Given the description of an element on the screen output the (x, y) to click on. 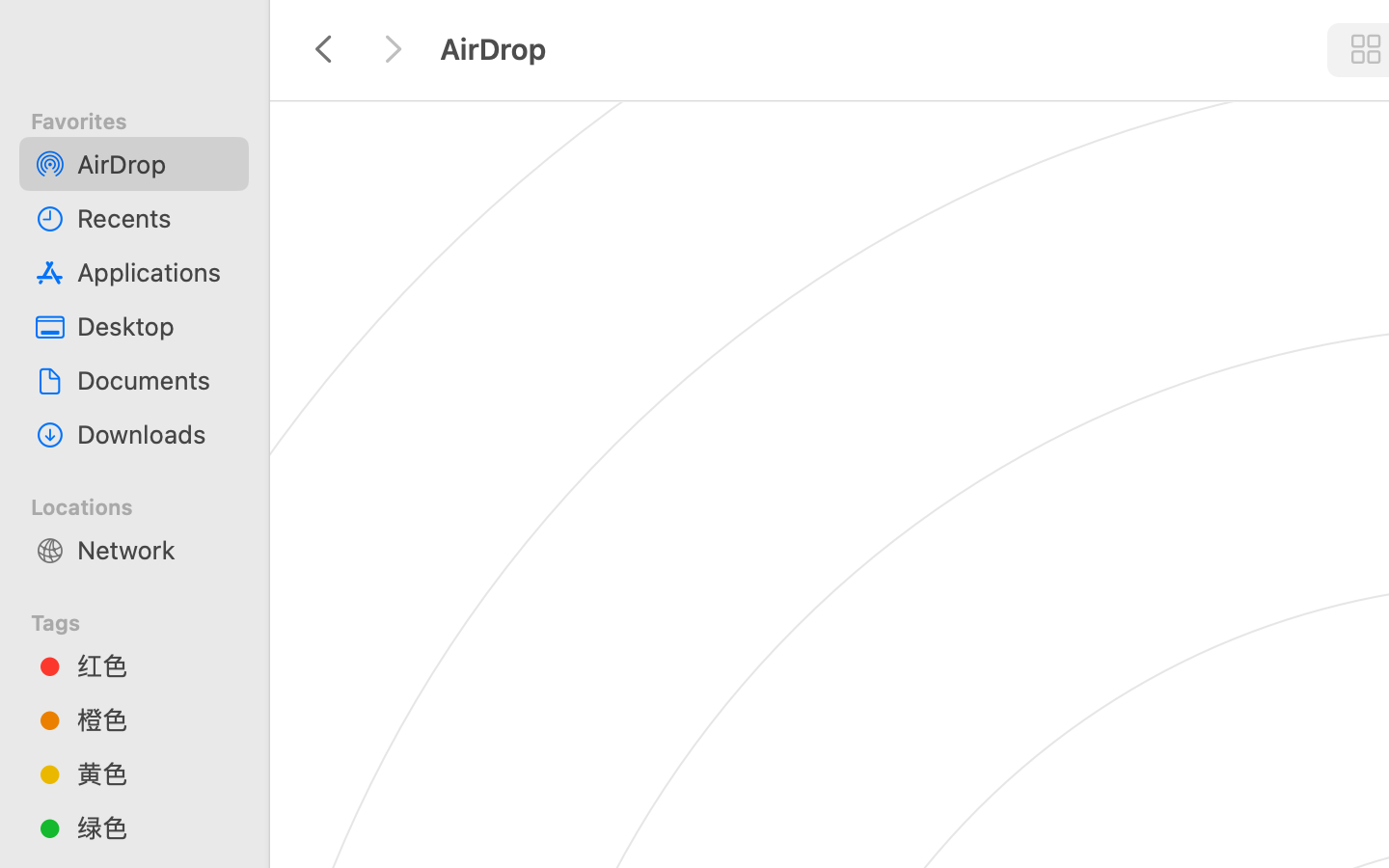
Desktop Element type: AXStaticText (155, 325)
Locations Element type: AXStaticText (145, 504)
Network Element type: AXStaticText (155, 549)
Documents Element type: AXStaticText (155, 379)
